Given the description of an element on the screen output the (x, y) to click on. 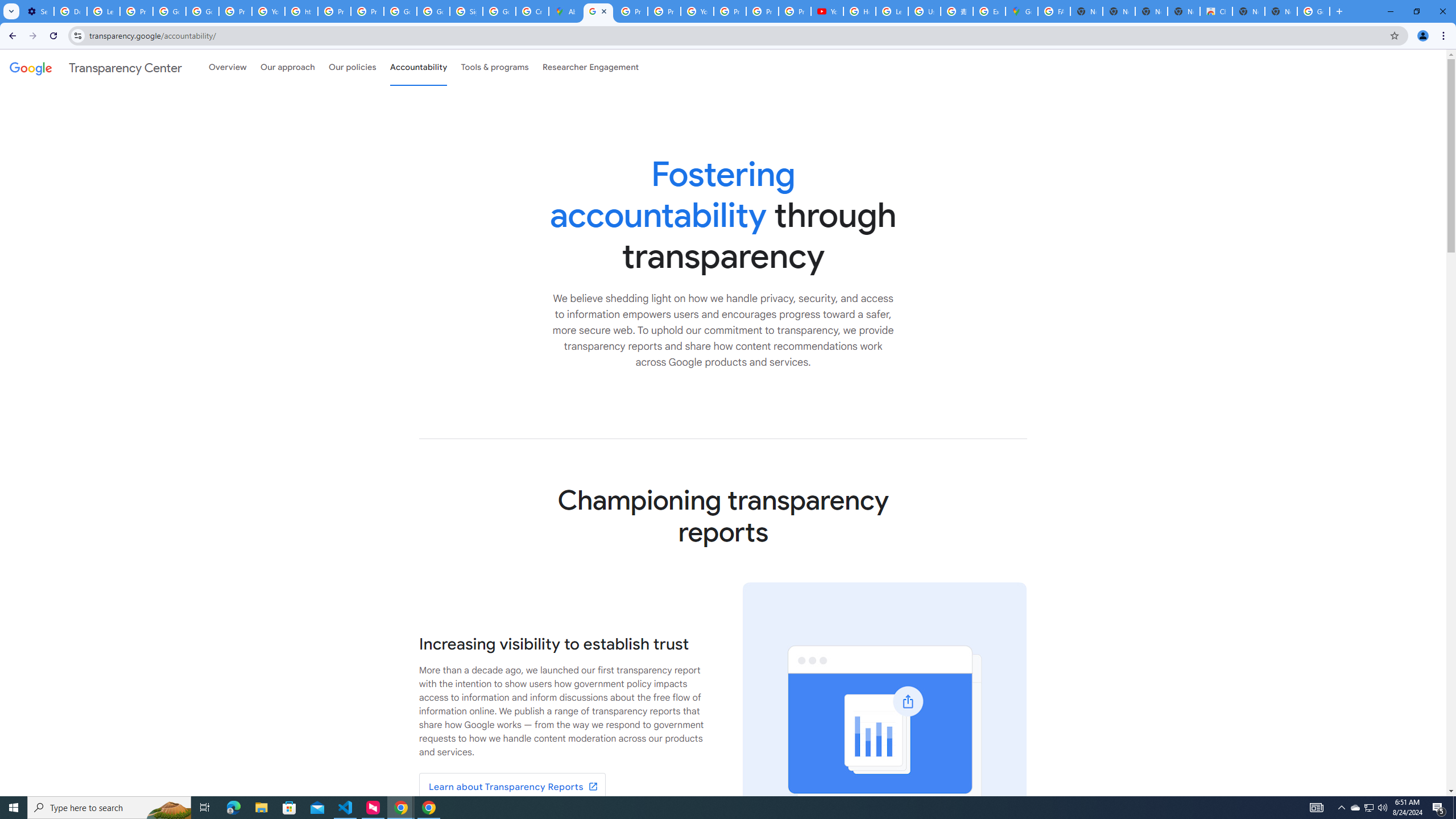
Google Images (1313, 11)
Privacy Help Center - Policies Help (663, 11)
Chrome Web Store (1216, 11)
Create your Google Account (532, 11)
Our policies (351, 67)
